Given the description of an element on the screen output the (x, y) to click on. 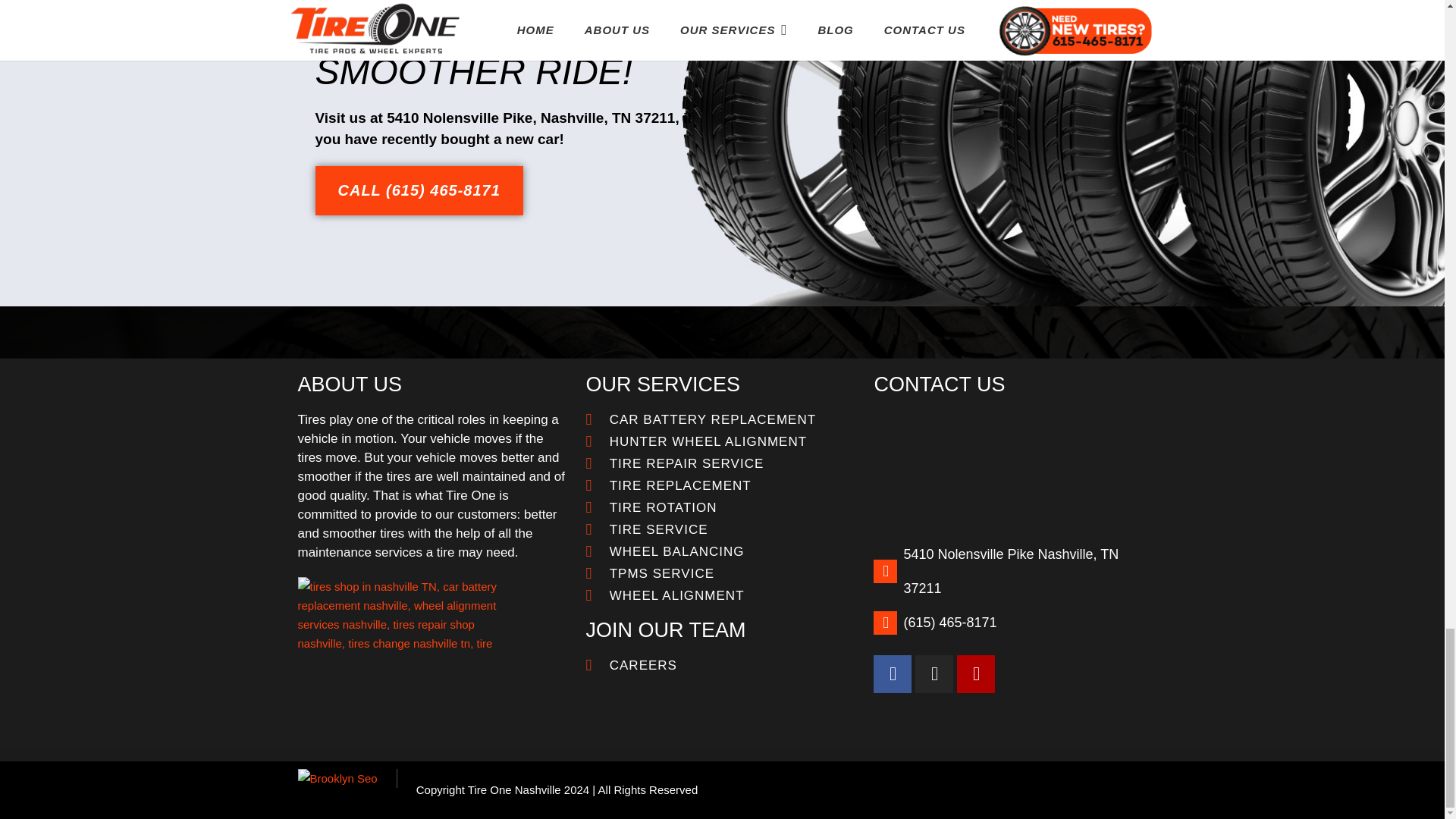
TIRE REPAIR SERVICE (722, 463)
TIRE REPLACEMENT (722, 485)
CAR BATTERY REPLACEMENT (722, 419)
TPMS SERVICE (722, 573)
HUNTER WHEEL ALIGNMENT (722, 441)
TIRE SERVICE (722, 529)
WHEEL BALANCING (722, 551)
5410 Nolensville Pike Nashville, TN 37211 (1010, 466)
TIRE ROTATION (722, 506)
